Given the description of an element on the screen output the (x, y) to click on. 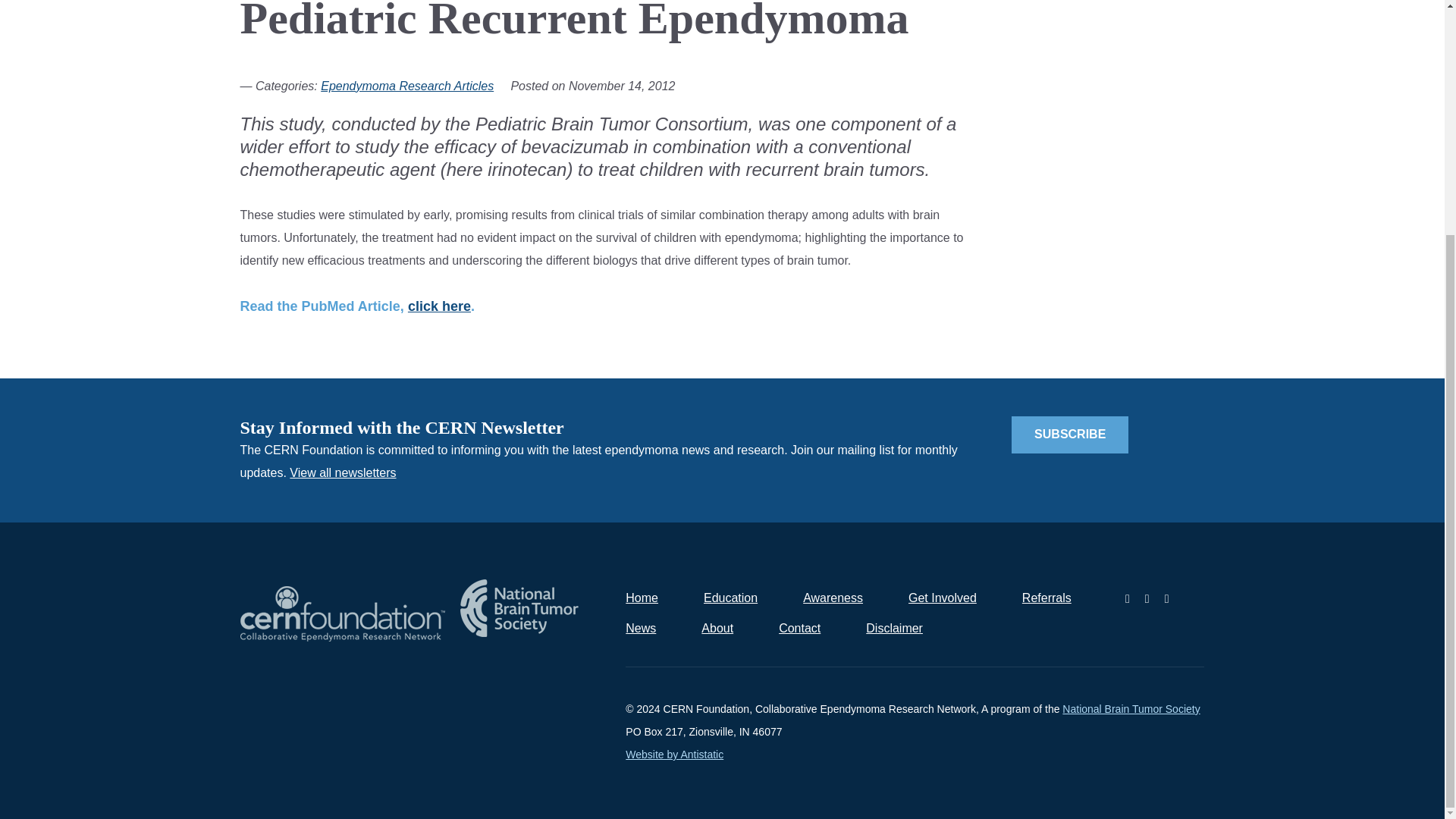
click here (438, 305)
Education (730, 597)
Ependymoma Research Articles (406, 85)
Contact (799, 627)
News (641, 627)
SUBSCRIBE (1069, 434)
Website by Antistatic (674, 754)
Referrals (1046, 597)
Disclaimer (894, 627)
Home (642, 597)
Awareness (833, 597)
National Brain Tumor Society (1130, 708)
About (717, 627)
Get Involved (942, 597)
View all newsletters (342, 472)
